Given the description of an element on the screen output the (x, y) to click on. 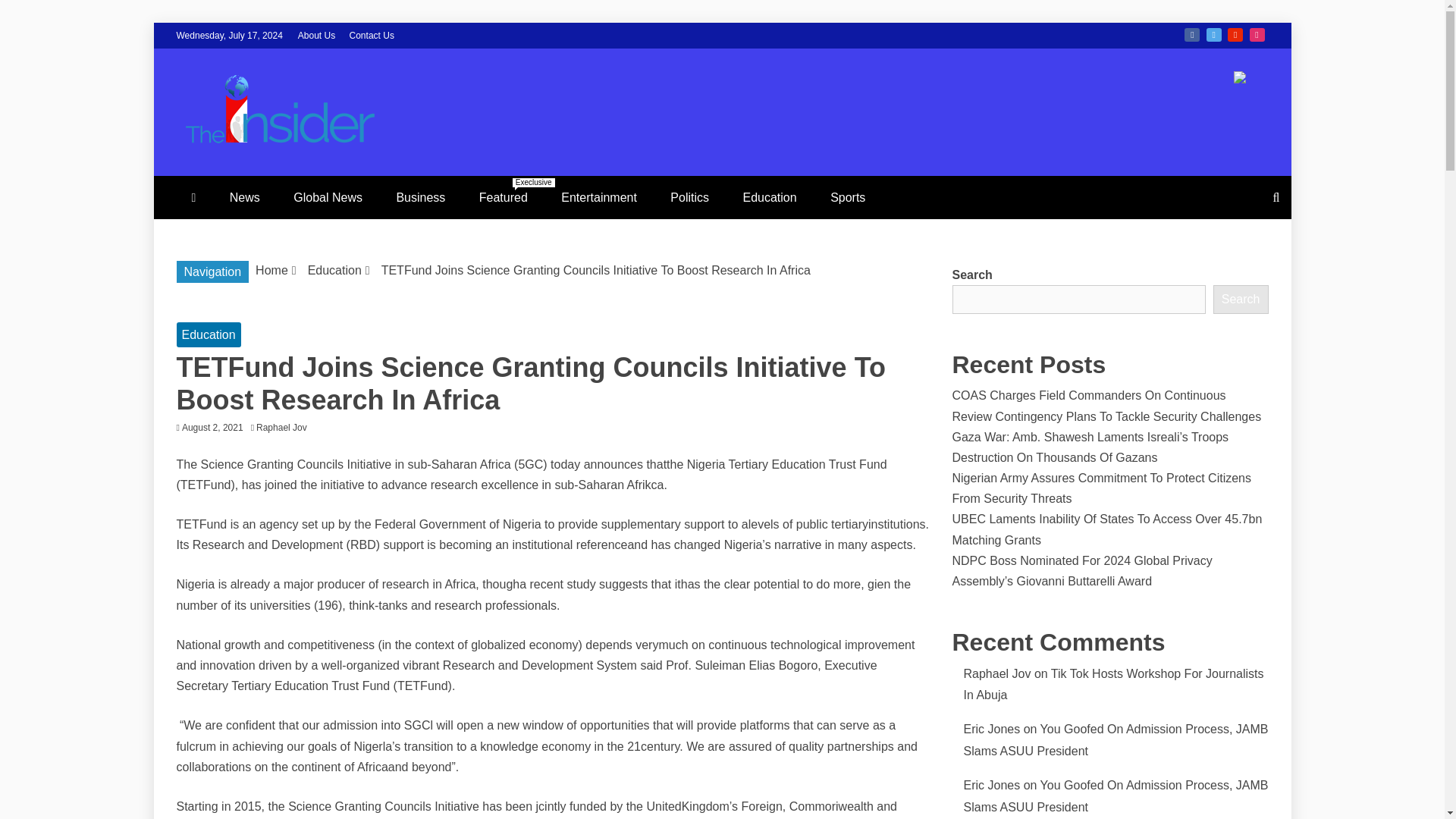
Youtube (1235, 34)
Education (334, 269)
THE INSIDER NEWS (414, 181)
Politics (689, 197)
Entertainment (599, 197)
News (244, 197)
Education (770, 197)
Contact Us (371, 35)
About Us (316, 35)
Sports (847, 197)
Twitter (1214, 34)
Business (420, 197)
August 2, 2021 (212, 427)
Raphael Jov (285, 427)
Home (272, 269)
